Given the description of an element on the screen output the (x, y) to click on. 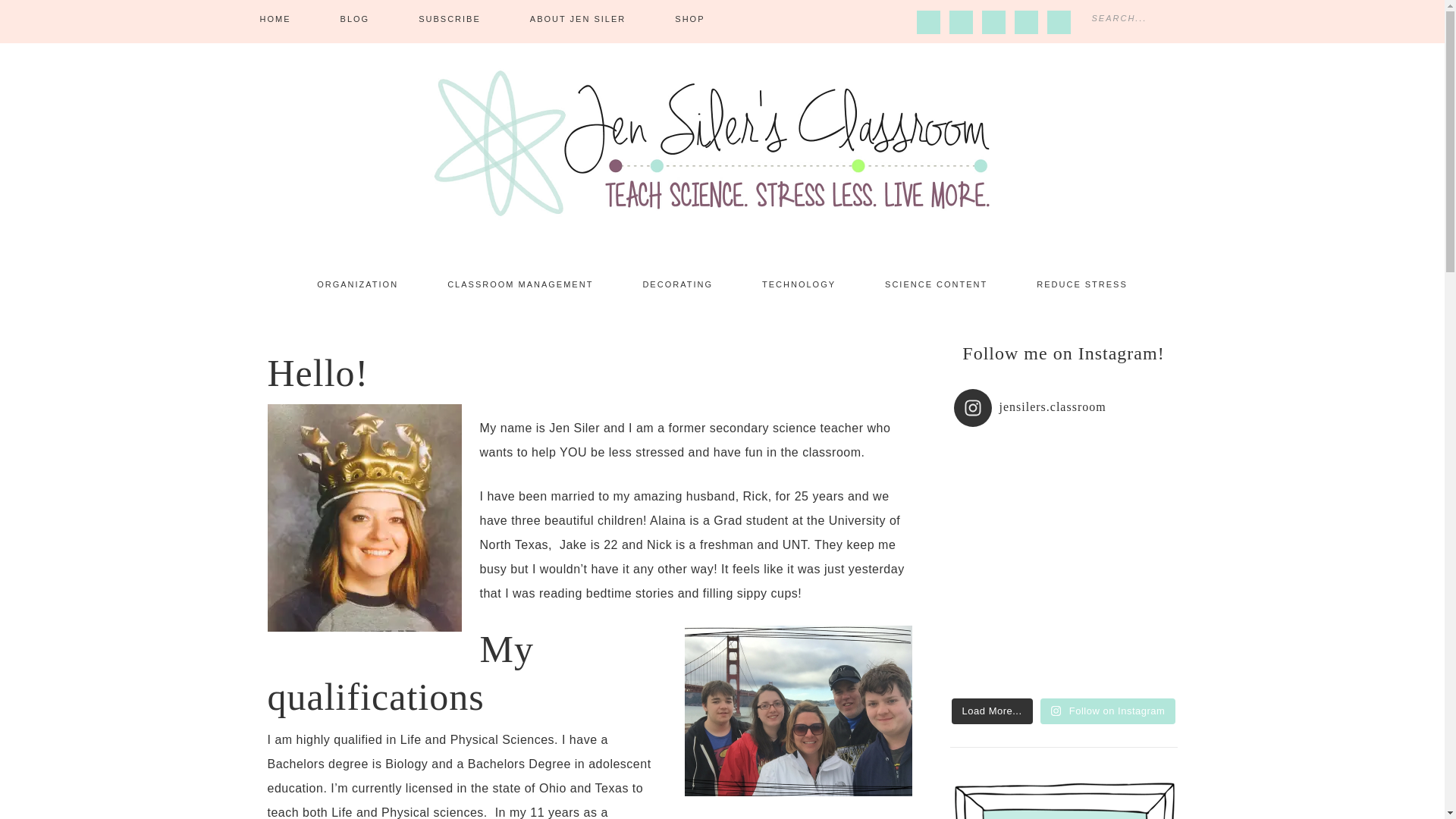
Load More... (992, 710)
CLASSROOM MANAGEMENT (520, 284)
REDUCE STRESS (1081, 284)
Follow on Instagram (1108, 710)
SCIENCE CONTENT (935, 284)
SUBSCRIBE (449, 19)
TECHNOLOGY (799, 284)
HOME (274, 19)
